Given the description of an element on the screen output the (x, y) to click on. 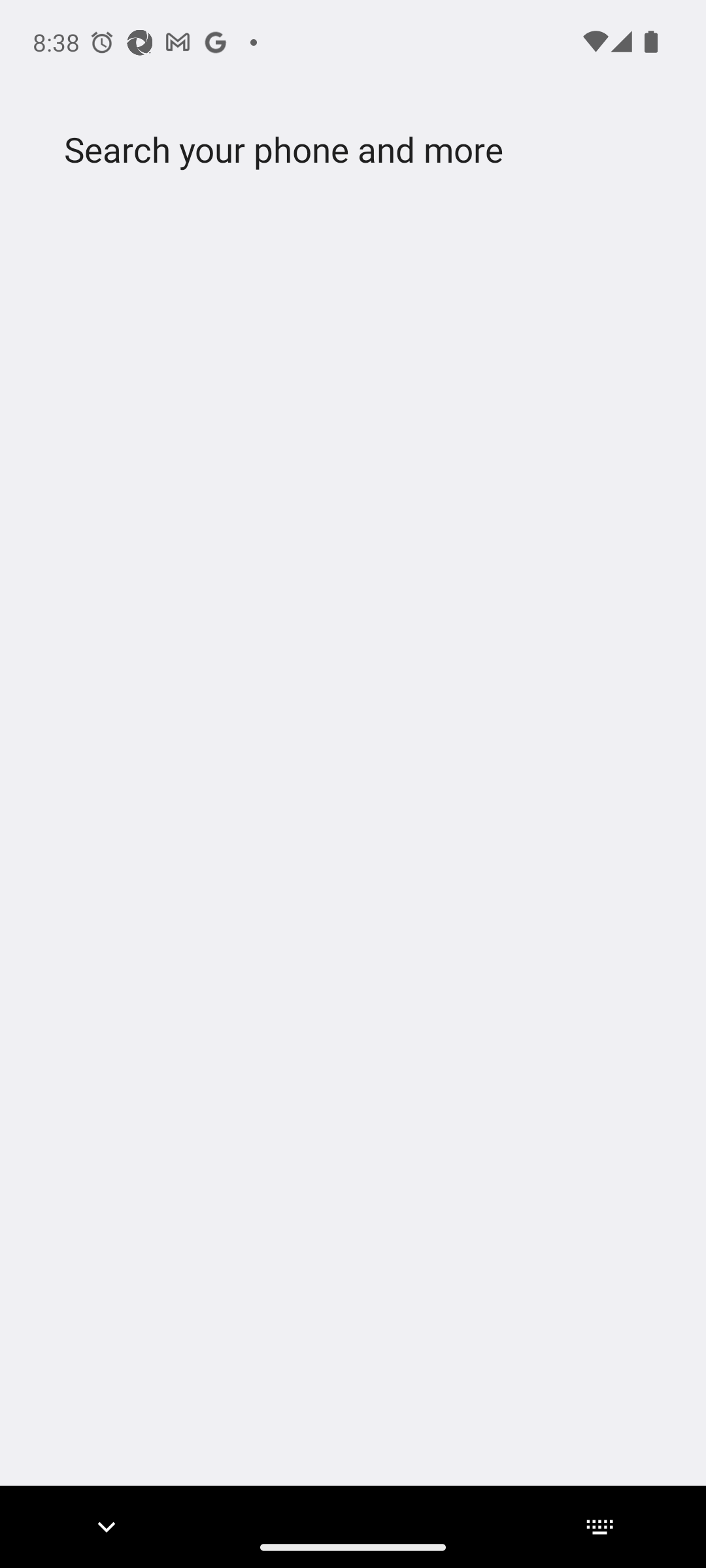
Search your phone and more (321, 149)
